Given the description of an element on the screen output the (x, y) to click on. 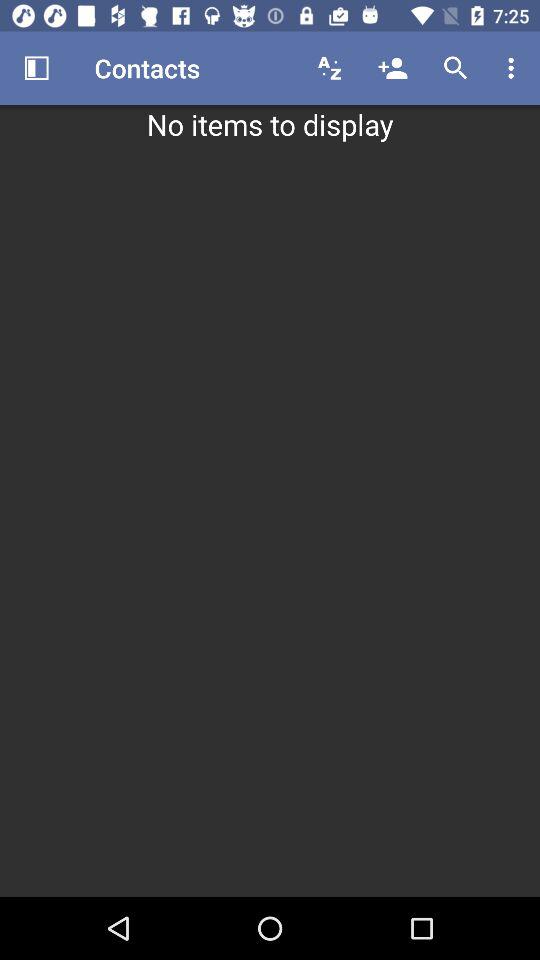
click the item above no items to item (513, 67)
